Given the description of an element on the screen output the (x, y) to click on. 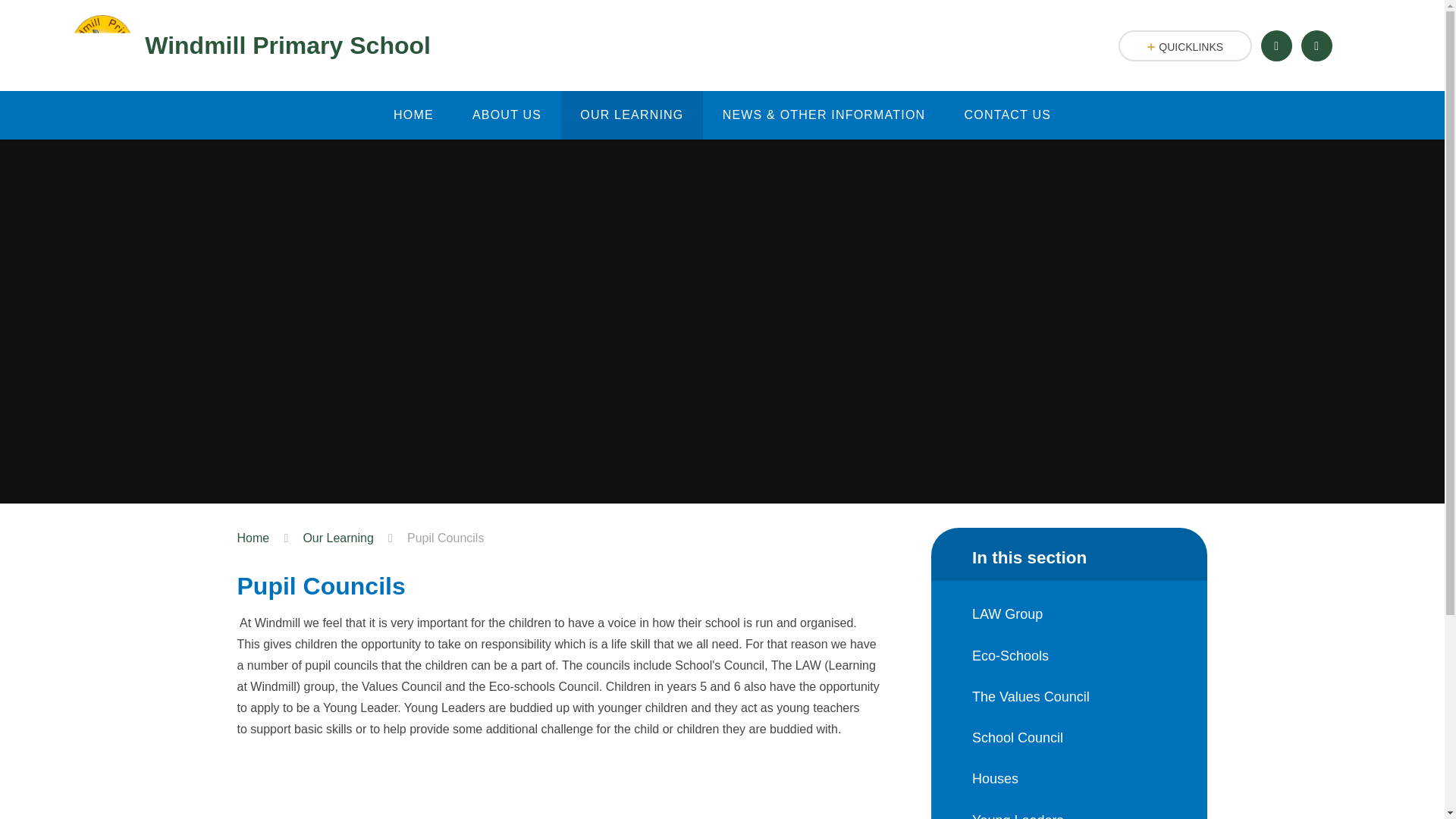
Windmill Primary School (250, 45)
OUR LEARNING (631, 114)
HOME (413, 114)
ABOUT US (506, 114)
